Given the description of an element on the screen output the (x, y) to click on. 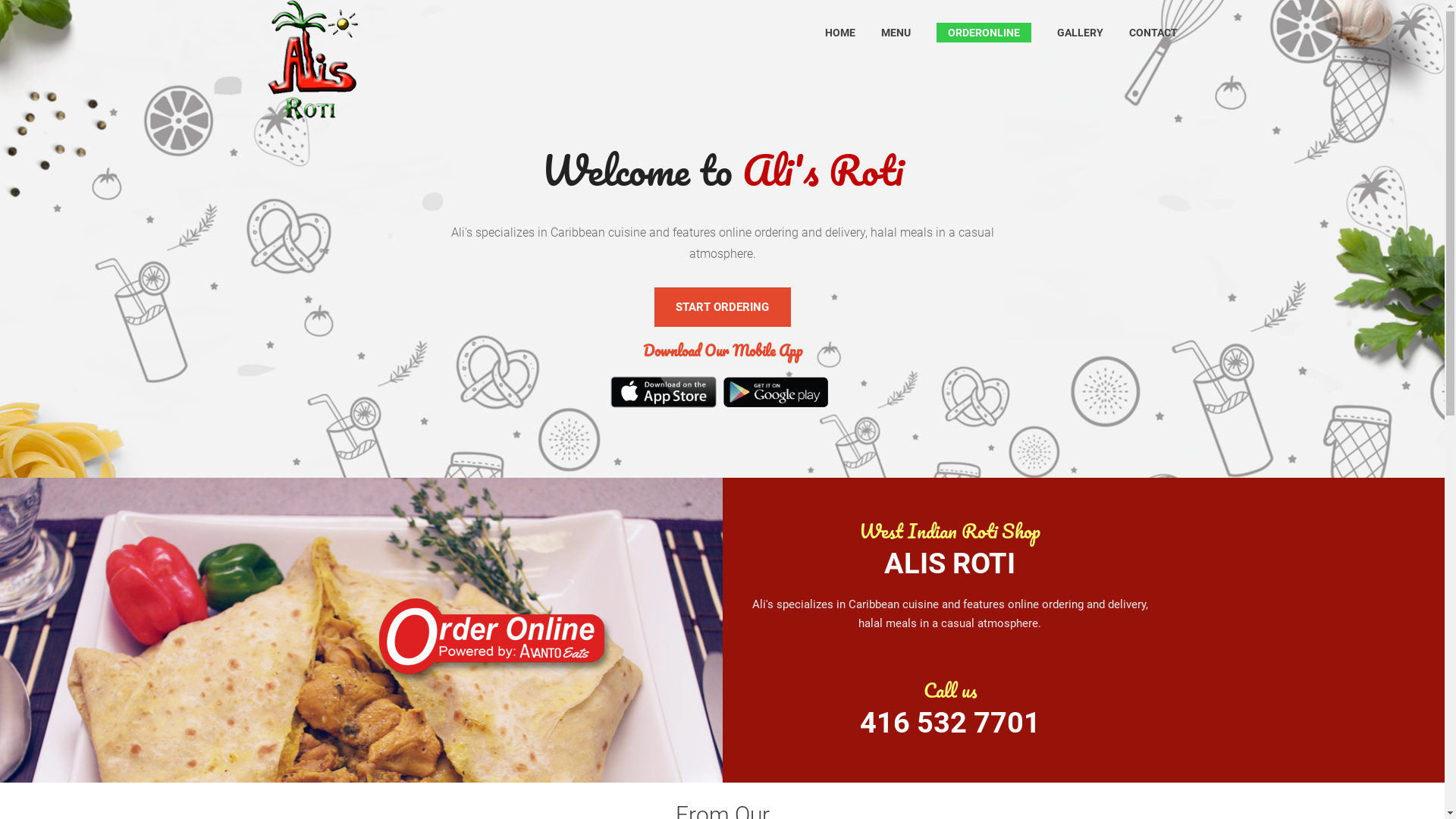
CONTACT Element type: text (1152, 32)
HOME Element type: text (840, 32)
MENU Element type: text (895, 32)
ORDERONLINE Element type: text (983, 32)
START ORDERING Element type: text (721, 306)
GALLERY Element type: text (1080, 32)
